Given the description of an element on the screen output the (x, y) to click on. 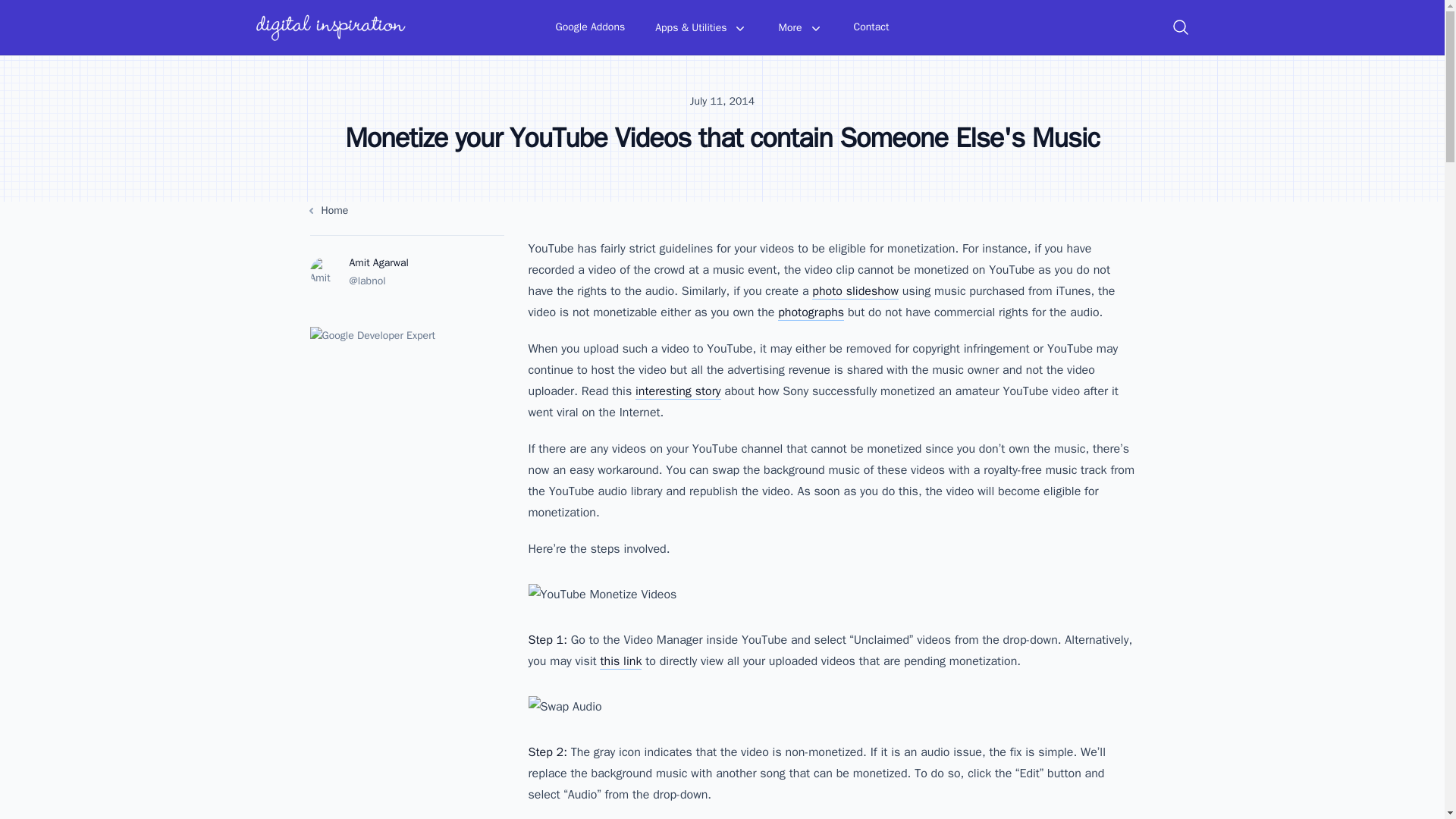
Amit Agarwal (378, 262)
Google Developer Expert (405, 386)
Digital Inspiration (330, 27)
Contact (871, 27)
Google Addons (591, 27)
More (799, 28)
this link (620, 661)
photo slideshow (855, 291)
photographs (810, 312)
interesting story (677, 391)
